Given the description of an element on the screen output the (x, y) to click on. 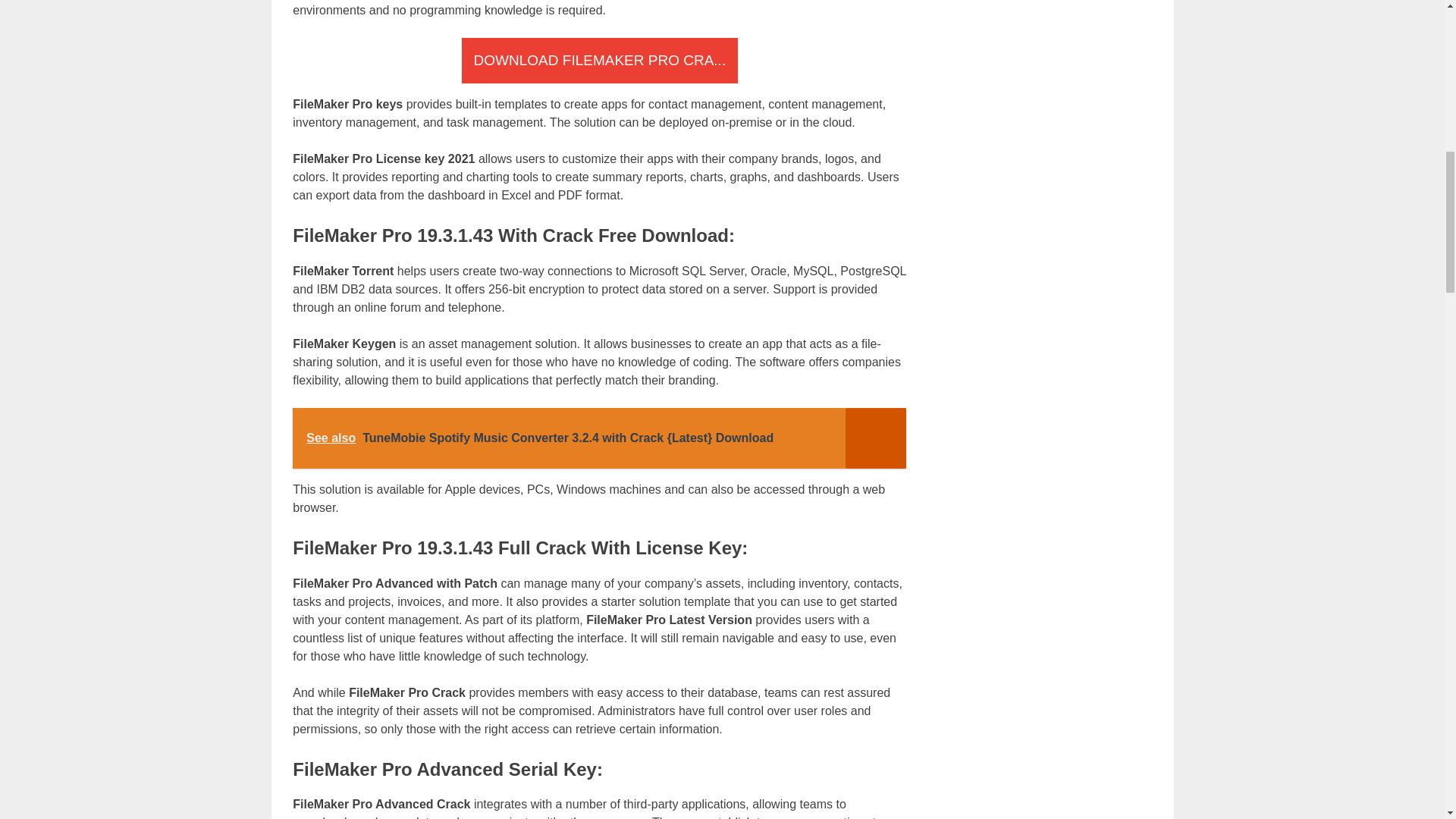
DOWNLOAD FILEMAKER PRO CRA... (599, 60)
DOWNLOAD FILEMAKER PRO CRA... (599, 60)
